Given the description of an element on the screen output the (x, y) to click on. 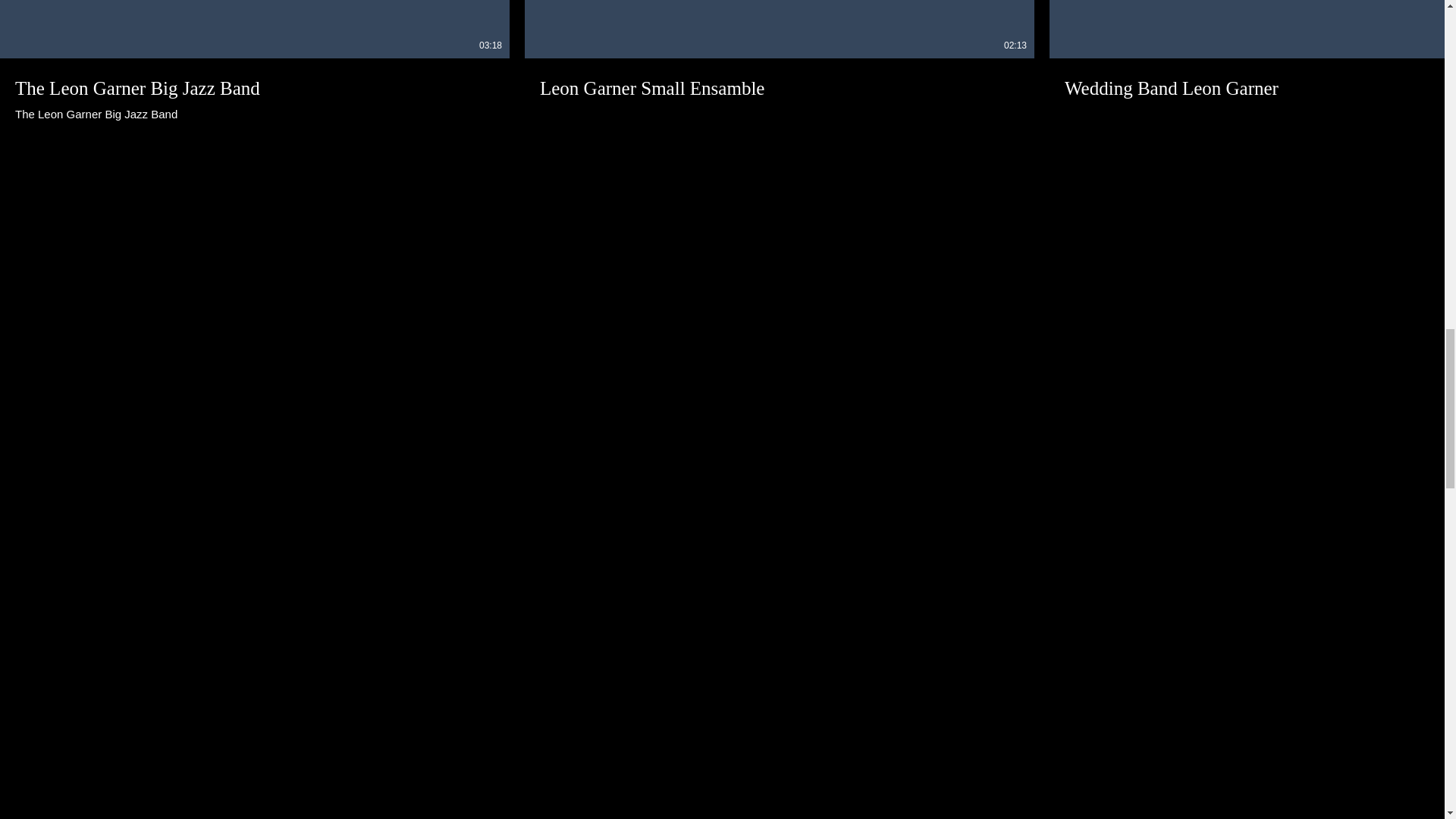
The Leon Garner Big Jazz Band (254, 87)
Leon Garner Small Ensamble (254, 89)
Leon Garner Small Ensamble (778, 78)
